Given the description of an element on the screen output the (x, y) to click on. 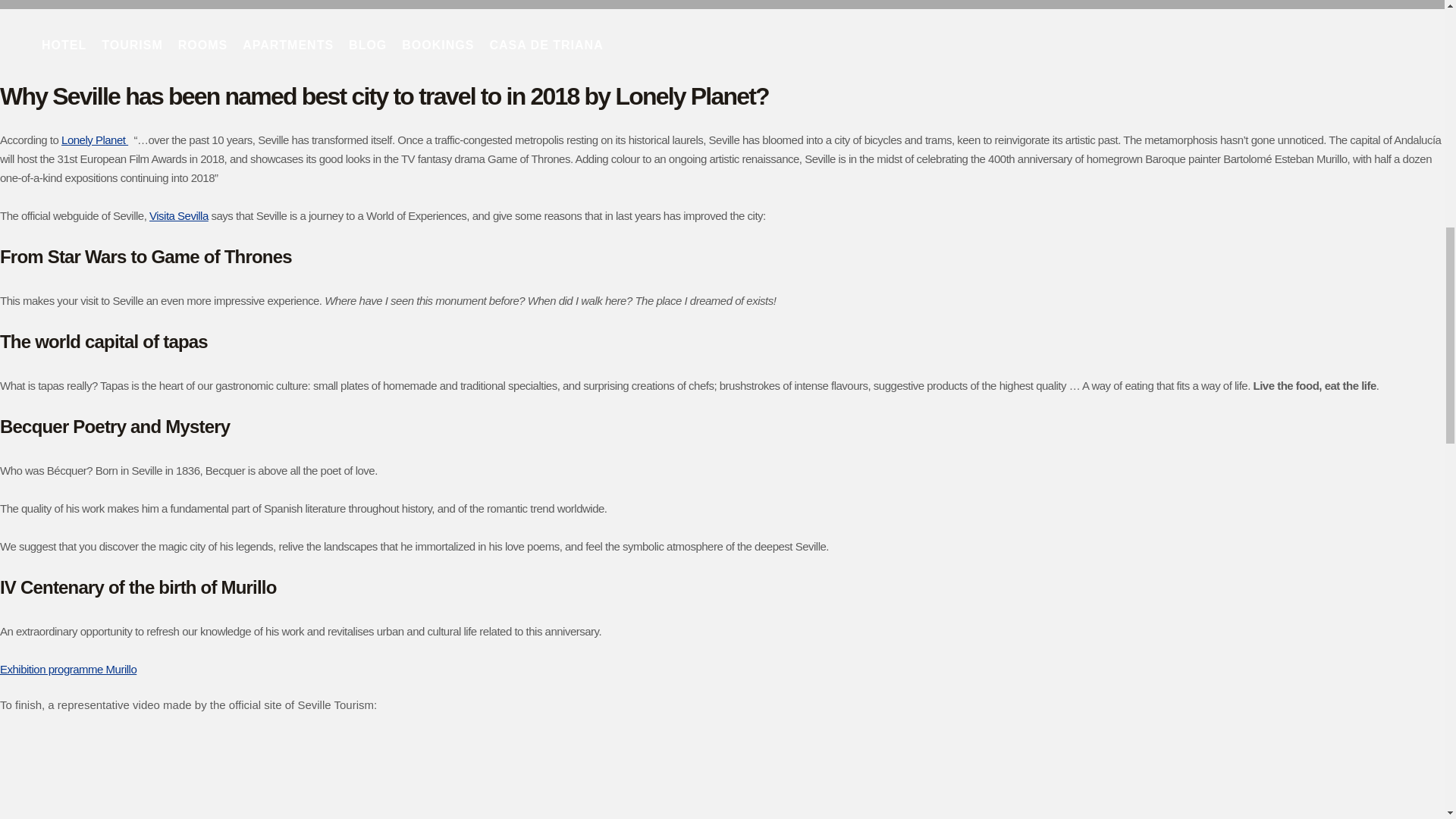
Exhibition programme Murillo (68, 668)
Visita Sevilla (178, 215)
Lonely Planet (94, 139)
